Given the description of an element on the screen output the (x, y) to click on. 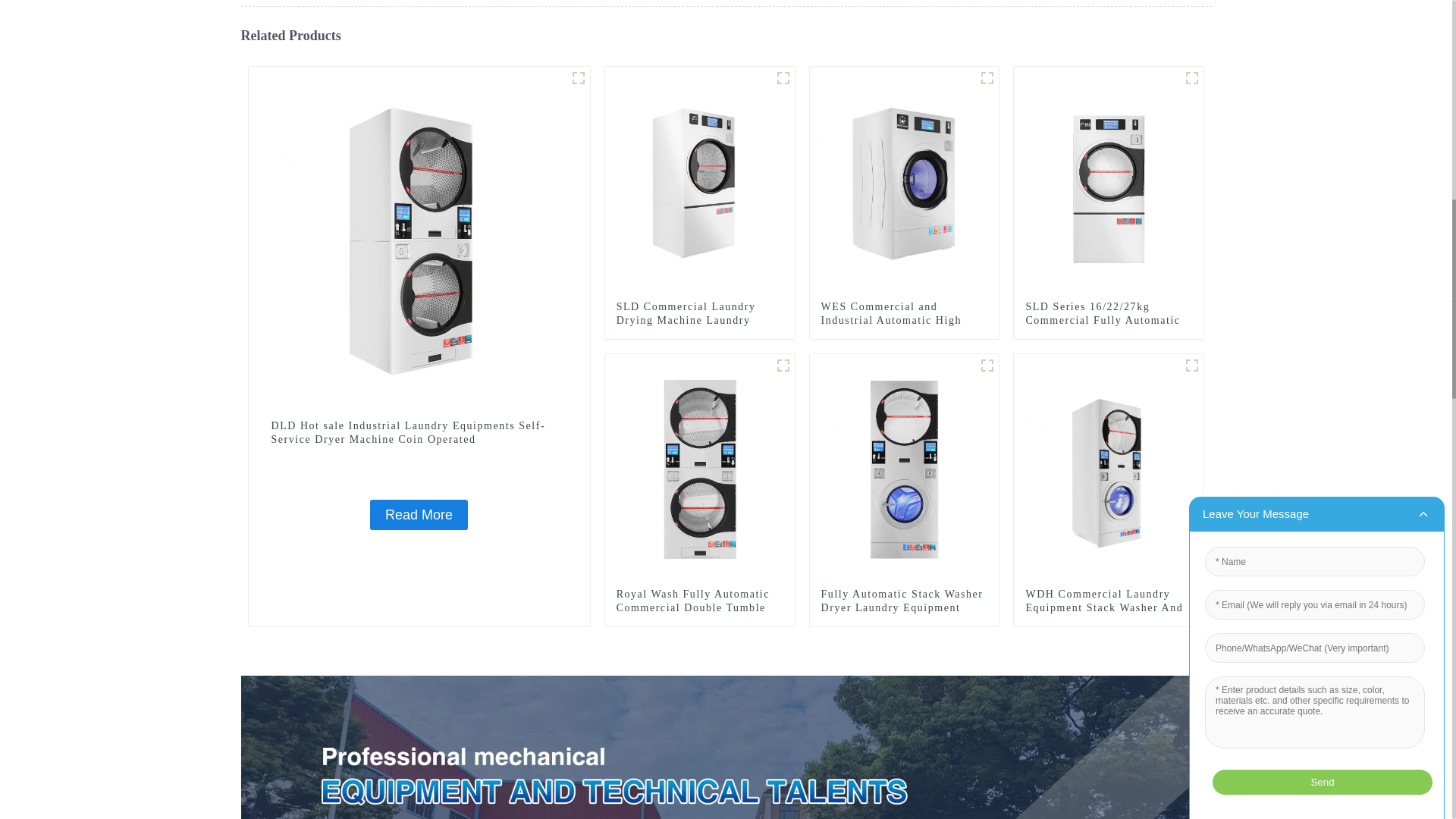
Fully Automatic Stack Washer Dryer Laundry Equipment (904, 601)
Royal Wash Fully Automatic Commercial Double Tumble Dryer (699, 608)
Read More (418, 514)
Single-tumble-dryer01 (1192, 77)
DLD-Double-layer-dryer-01 (782, 364)
Fully Automatic Stack Washer Dryer Laundry Equipment (903, 467)
Fully Automatic Stack Washer Dryer Laundry Equipment (904, 601)
